Given the description of an element on the screen output the (x, y) to click on. 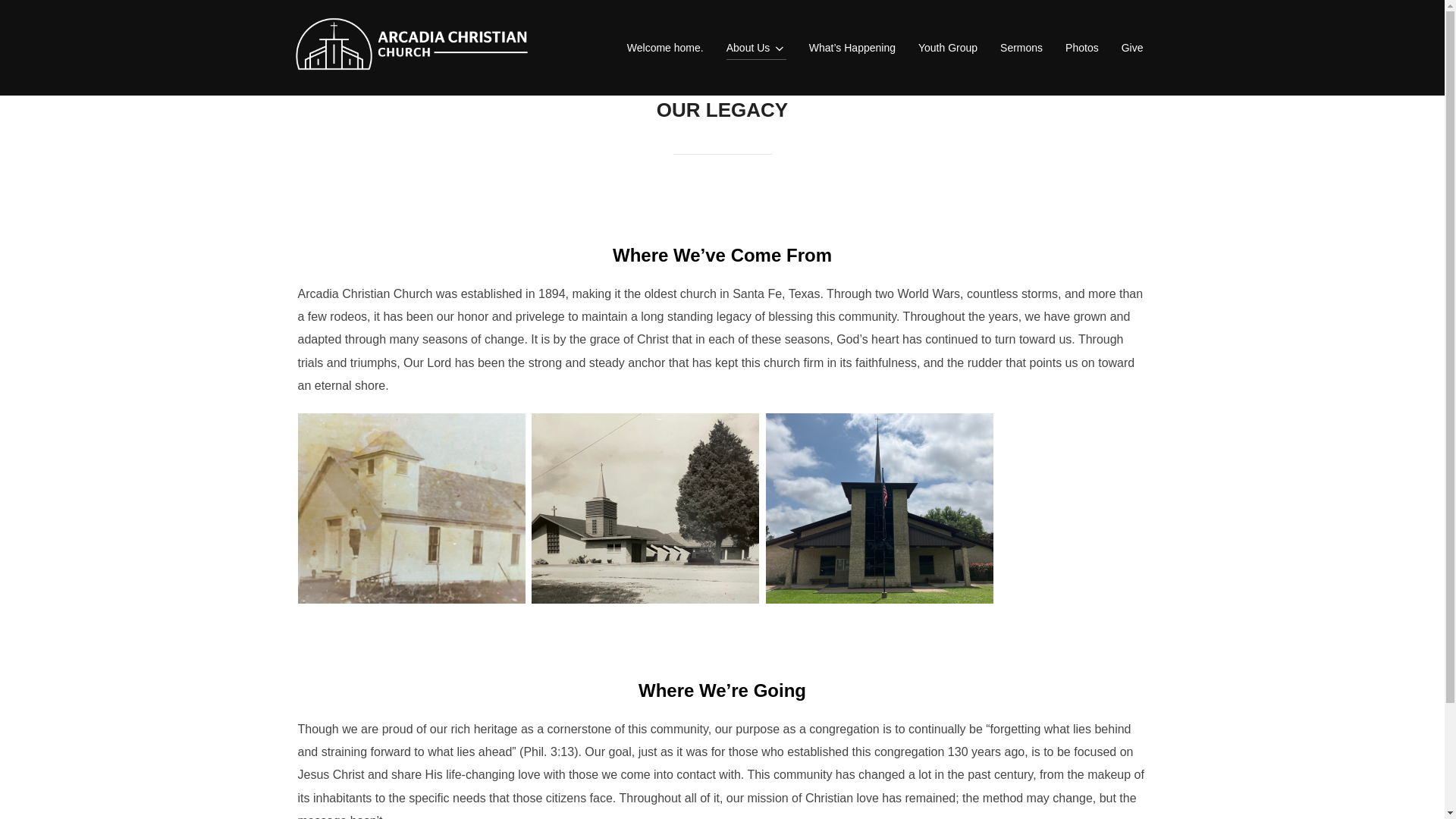
About Us (756, 47)
Welcome home. (665, 47)
Give (1131, 47)
Photos (1082, 47)
Youth Group (947, 47)
Sermons (1021, 47)
